Given the description of an element on the screen output the (x, y) to click on. 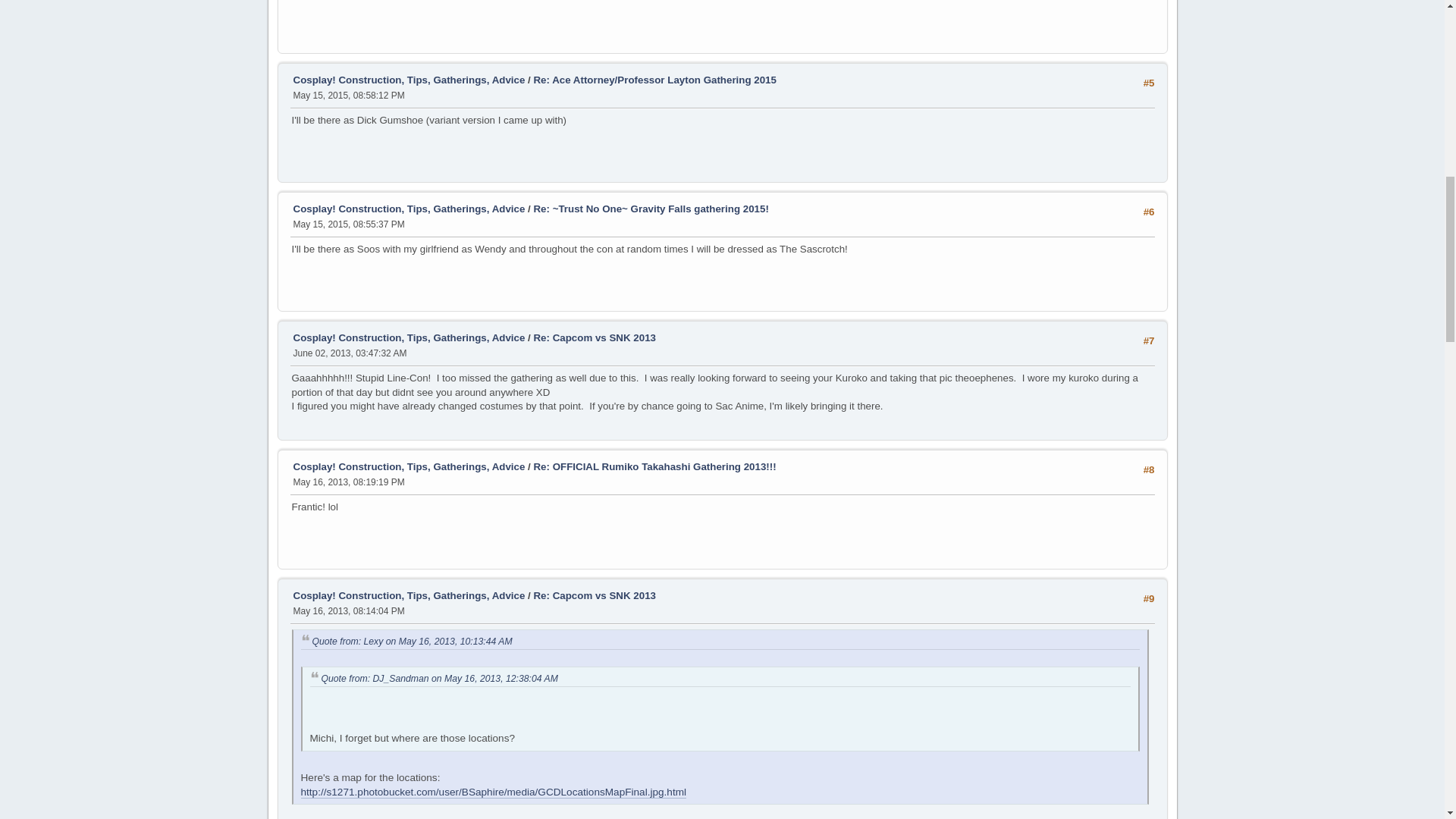
Re: Capcom vs SNK 2013 (594, 337)
Cosplay! Construction, Tips, Gatherings, Advice (408, 208)
Cosplay! Construction, Tips, Gatherings, Advice (408, 79)
Cosplay! Construction, Tips, Gatherings, Advice (408, 337)
